Given the description of an element on the screen output the (x, y) to click on. 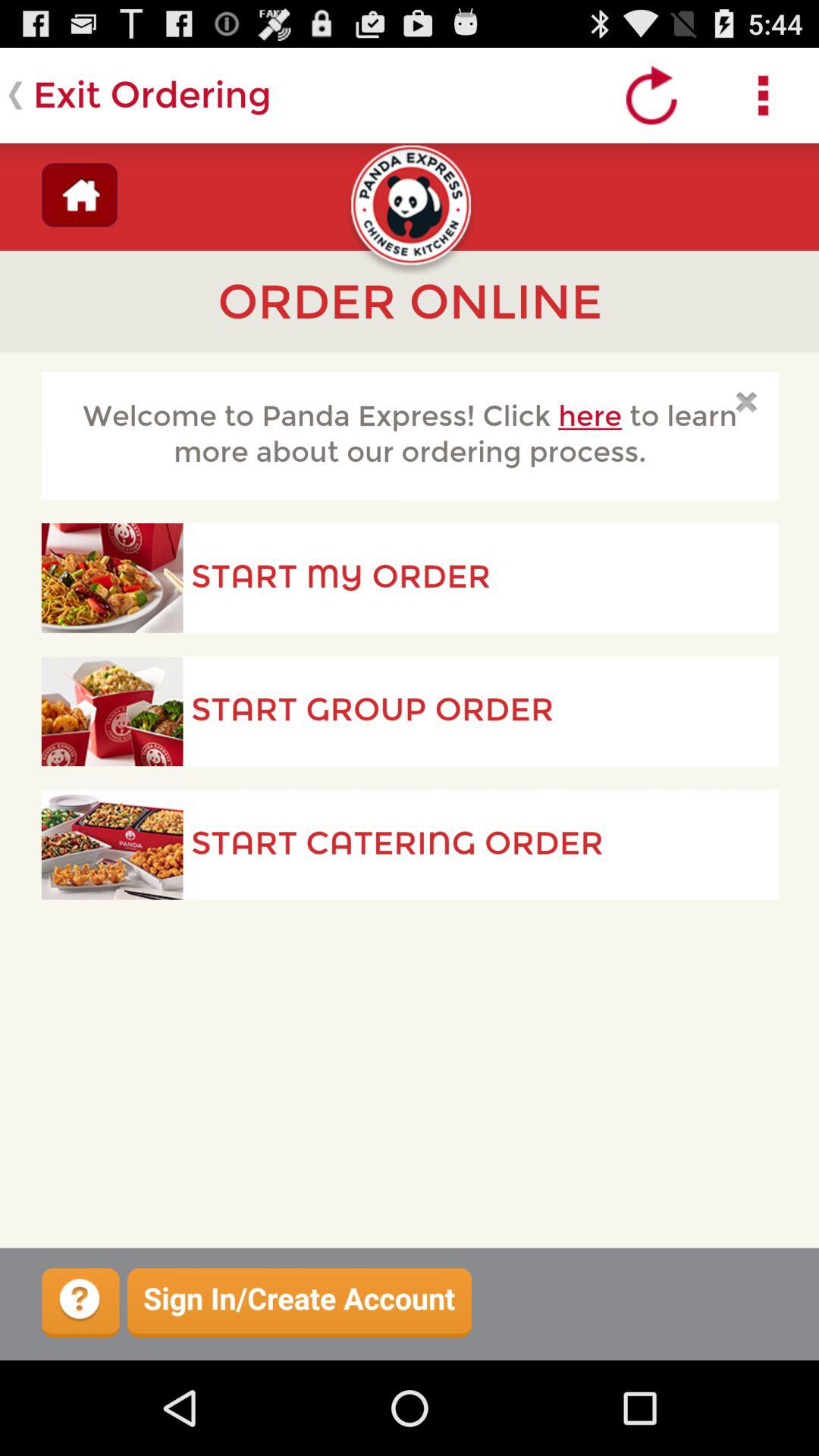
open settings (763, 95)
